Given the description of an element on the screen output the (x, y) to click on. 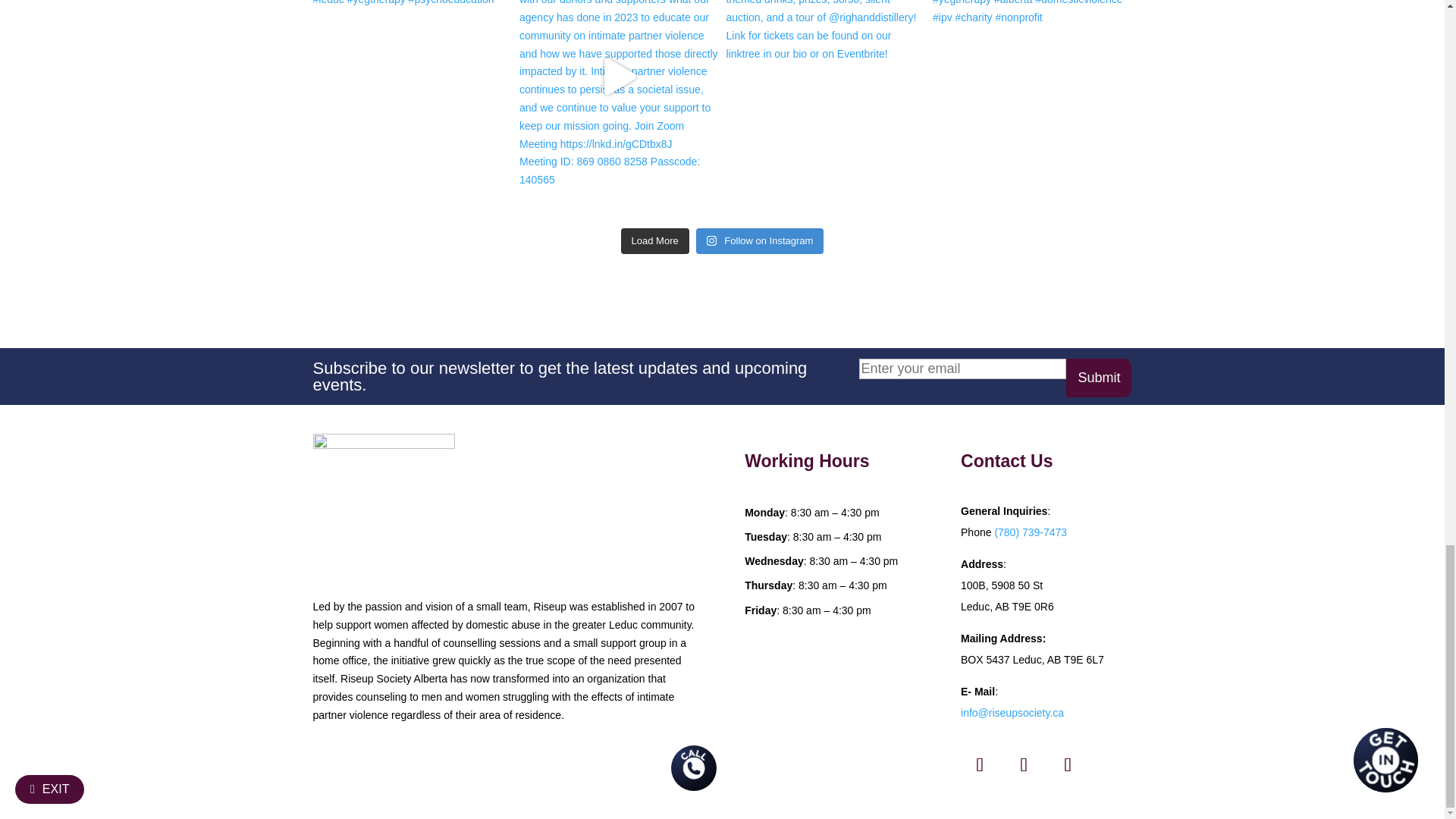
Submit (1098, 377)
Follow on Instagram (1023, 764)
Follow on X (979, 764)
Follow on LinkedIn (1067, 764)
746 (383, 504)
